Given the description of an element on the screen output the (x, y) to click on. 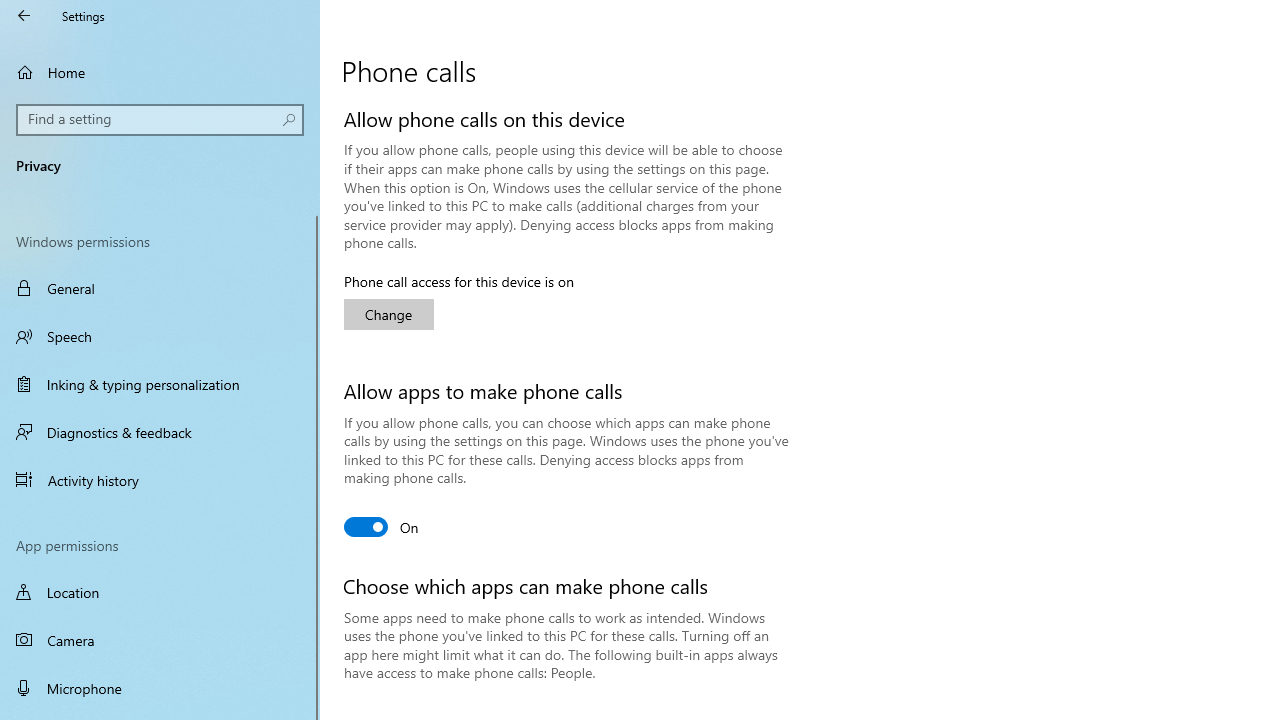
Back (24, 15)
Activity history (160, 479)
Camera (160, 639)
Search box, Find a setting (160, 119)
Diagnostics & feedback (160, 431)
General (160, 287)
Inking & typing personalization (160, 384)
Home (160, 71)
Change (388, 313)
Location (160, 592)
Allow apps to make phone calls (381, 526)
Speech (160, 335)
Microphone (160, 687)
